Given the description of an element on the screen output the (x, y) to click on. 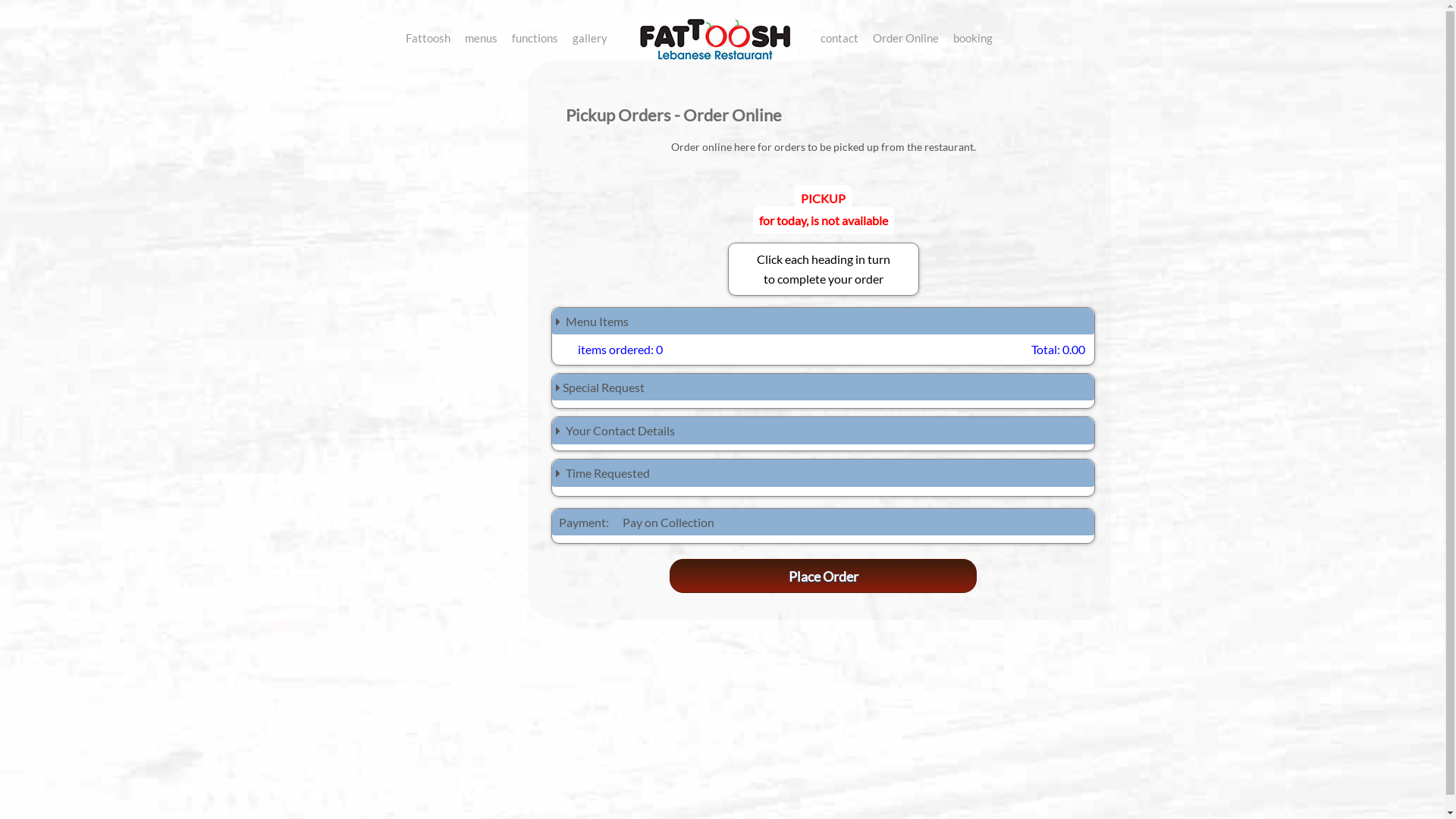
Special Request Element type: text (823, 387)
Place Order Element type: text (822, 575)
  Element type: text (1033, 34)
Order Online Element type: text (905, 34)
  Element type: text (712, 21)
contact Element type: text (839, 34)
functions Element type: text (534, 34)
Fattoosh Element type: text (427, 34)
Pay on Collection Element type: text (667, 522)
gallery Element type: text (589, 34)
Time Requested Element type: text (823, 472)
menus Element type: text (480, 34)
booking Element type: text (972, 34)
